Given the description of an element on the screen output the (x, y) to click on. 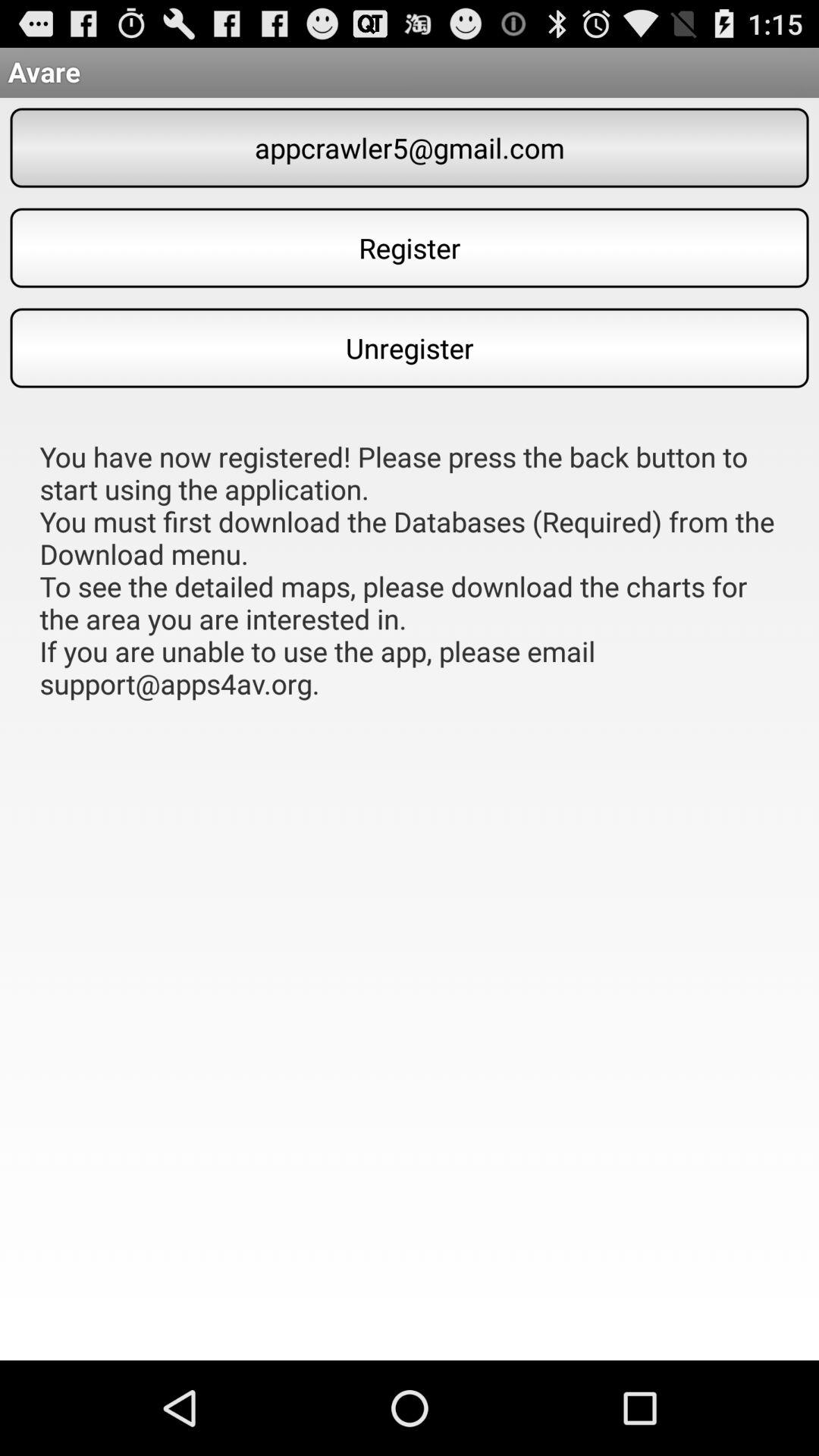
launch icon above the register icon (409, 147)
